Given the description of an element on the screen output the (x, y) to click on. 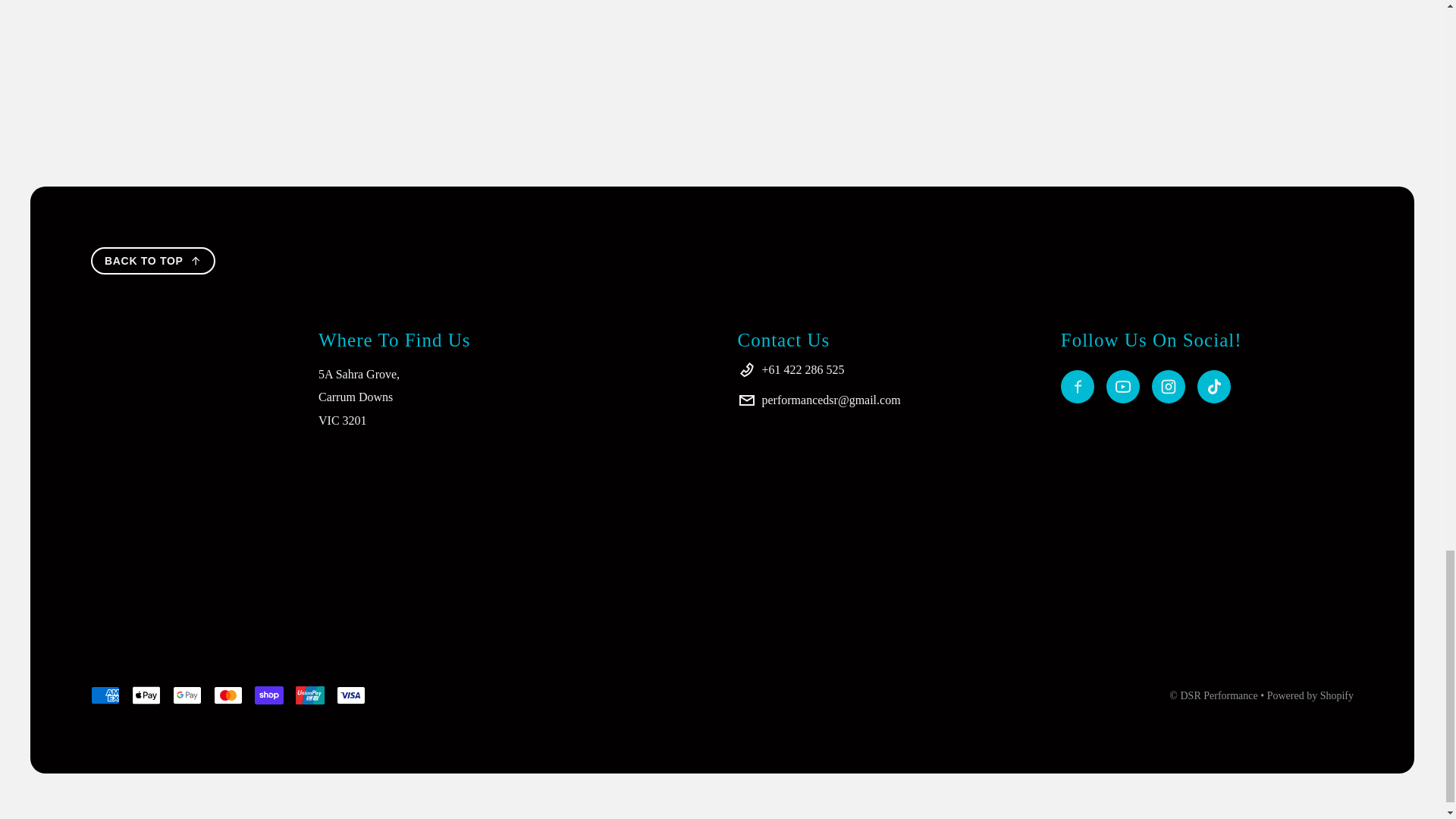
Powered by Shopify (1310, 695)
Tiktok (1213, 386)
BACK TO TOP (152, 260)
DSR Performance (1218, 695)
Youtube (1123, 386)
Instagram (1168, 386)
